Given the description of an element on the screen output the (x, y) to click on. 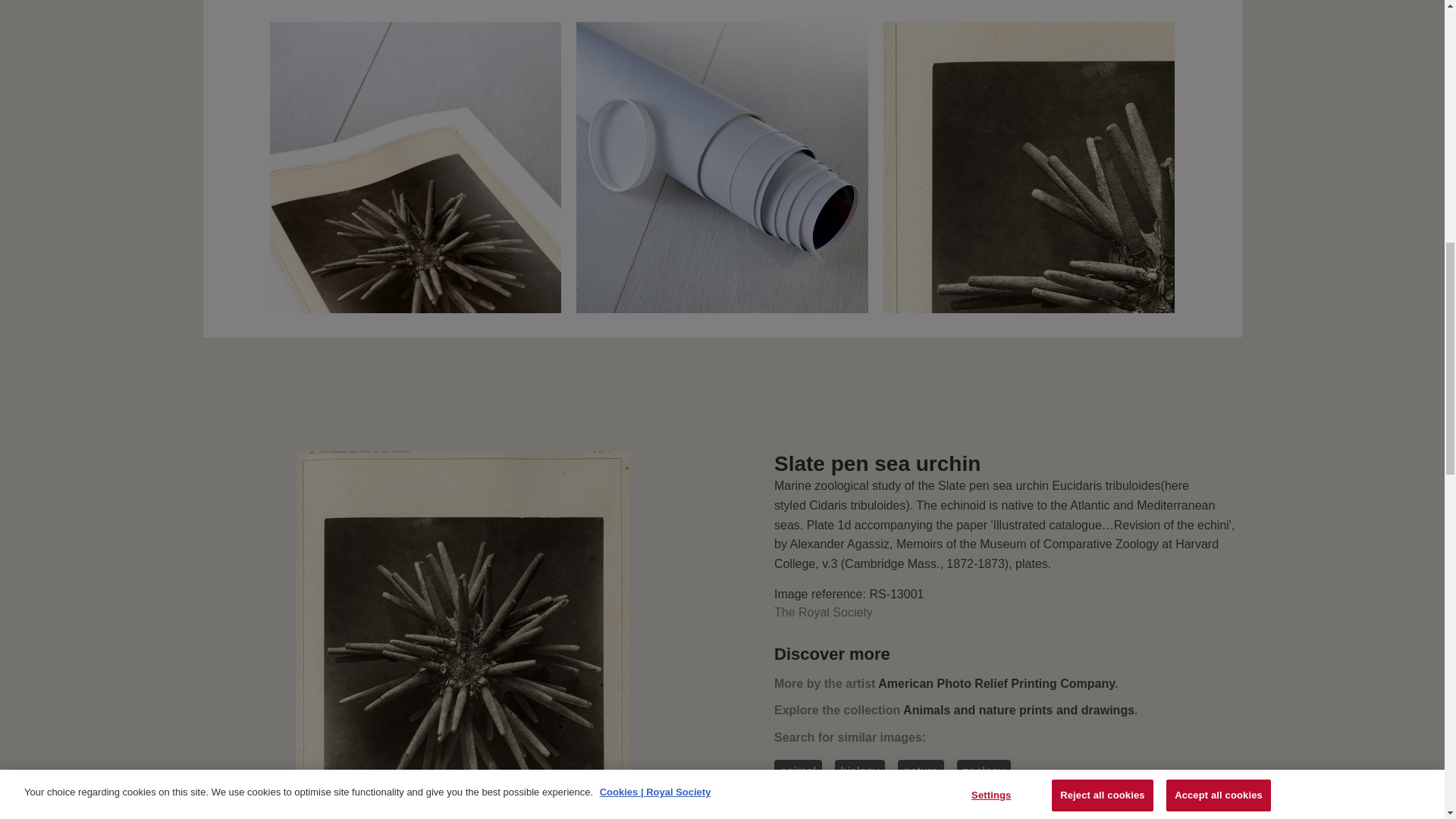
animal (798, 771)
Animals and nature prints and drawings (1018, 709)
zoology (983, 771)
nature (920, 771)
biology (859, 771)
American Photo Relief Printing Company (996, 683)
